Given the description of an element on the screen output the (x, y) to click on. 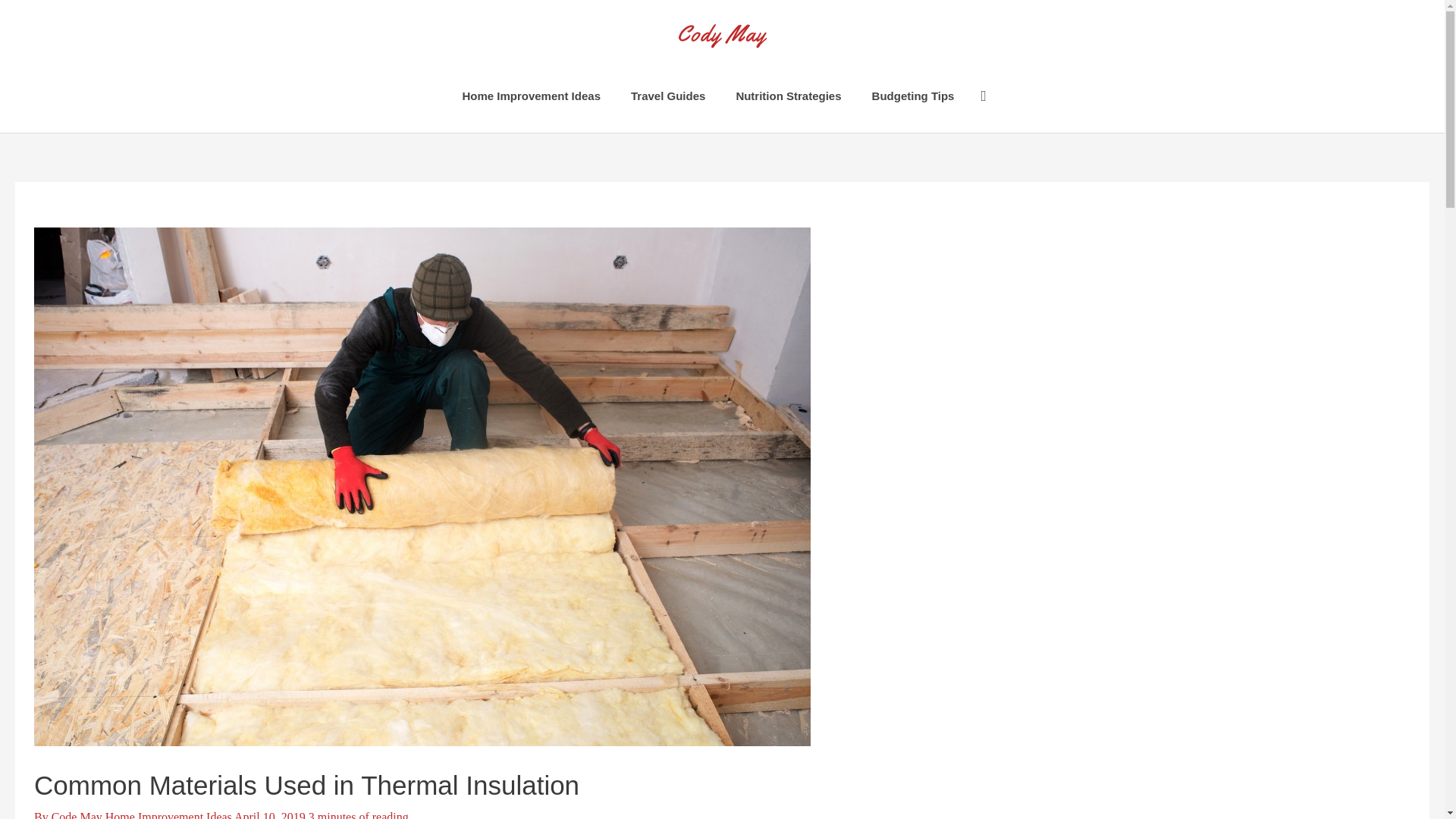
Code May (77, 814)
View all posts by Code May (77, 814)
Budgeting Tips (913, 95)
Nutrition Strategies (788, 95)
Home Improvement Ideas (530, 95)
Home Improvement Ideas (167, 814)
Travel Guides (667, 95)
